Given the description of an element on the screen output the (x, y) to click on. 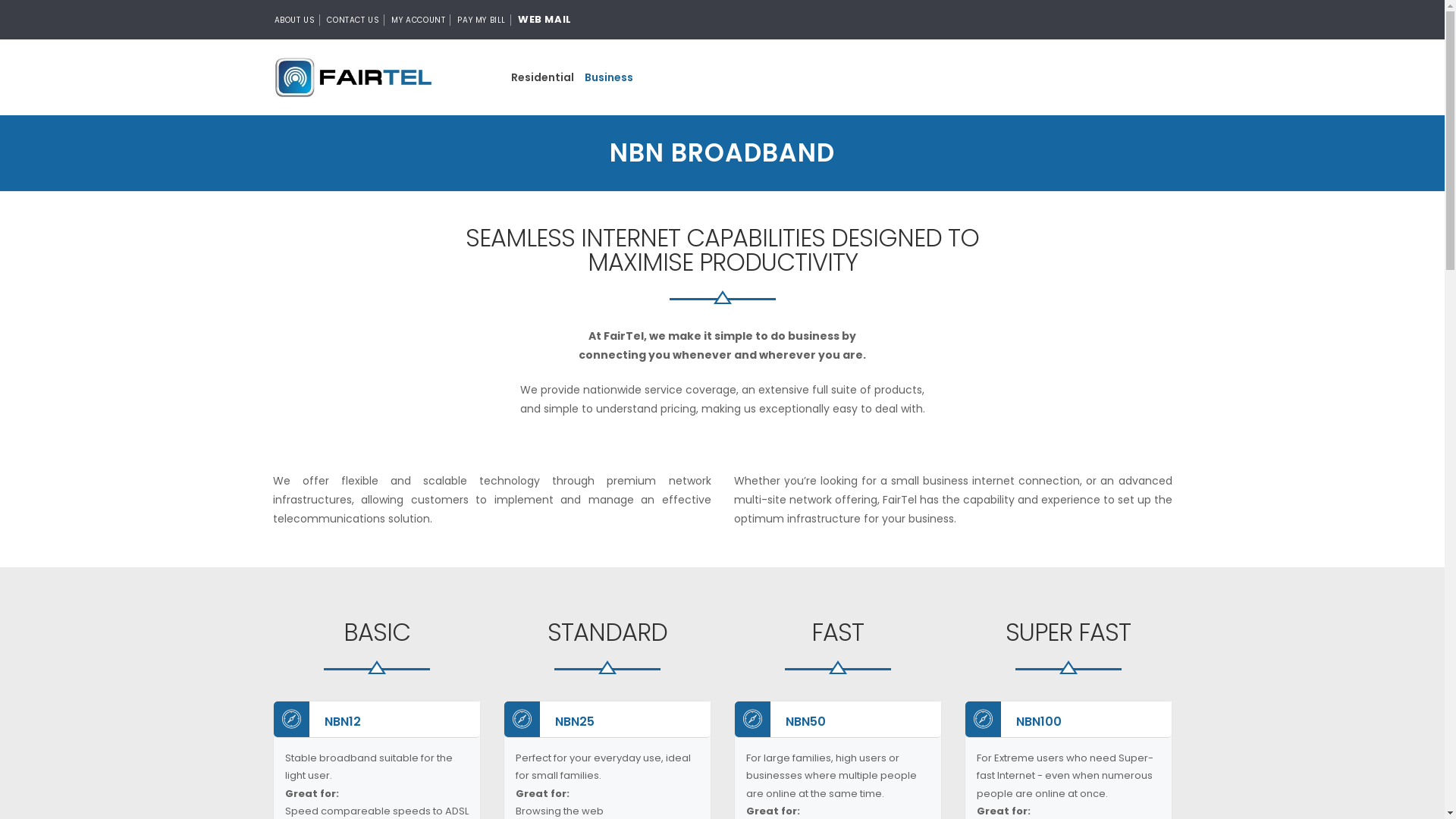
WEB MAIL Element type: text (544, 19)
ABOUT US Element type: text (294, 19)
Residential Element type: text (541, 77)
Business Element type: text (608, 77)
CONTACT US Element type: text (353, 19)
MY ACCOUNT Element type: text (418, 19)
PAY MY BILL Element type: text (481, 19)
